Given the description of an element on the screen output the (x, y) to click on. 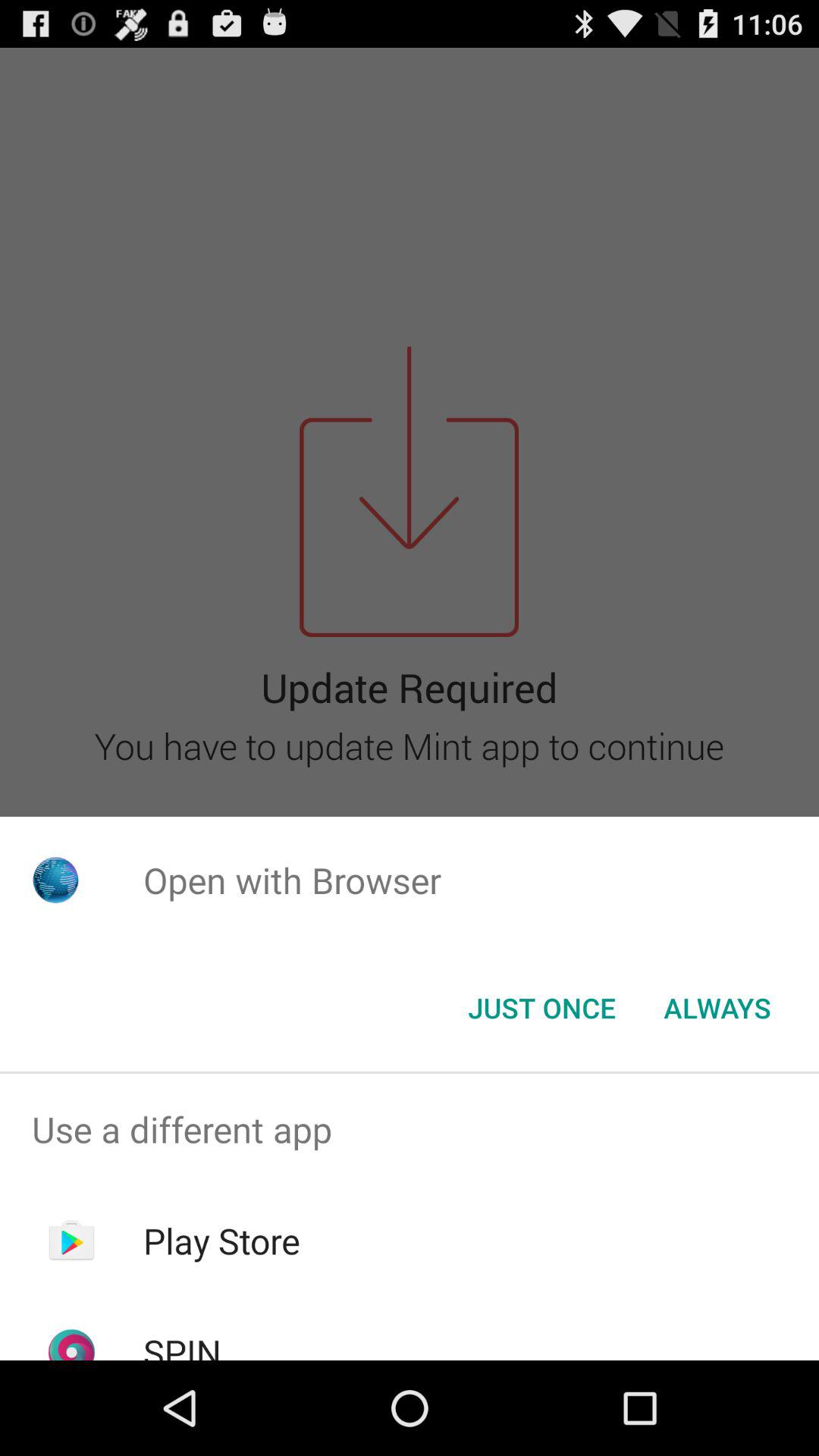
tap app below the use a different (221, 1240)
